Given the description of an element on the screen output the (x, y) to click on. 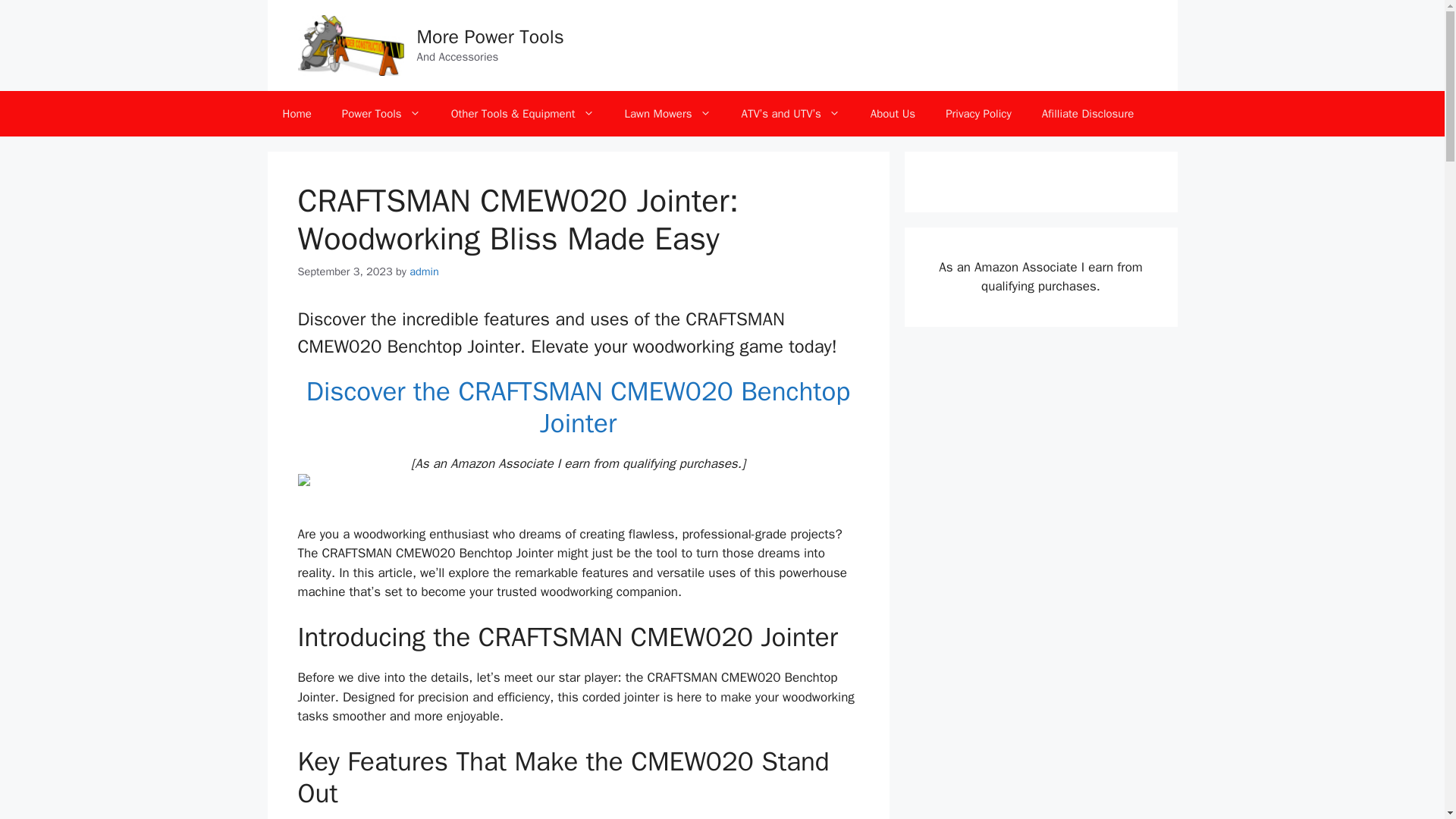
View all posts by admin (424, 271)
Power Tools (380, 113)
Home (296, 113)
More Power Tools (490, 36)
